Given the description of an element on the screen output the (x, y) to click on. 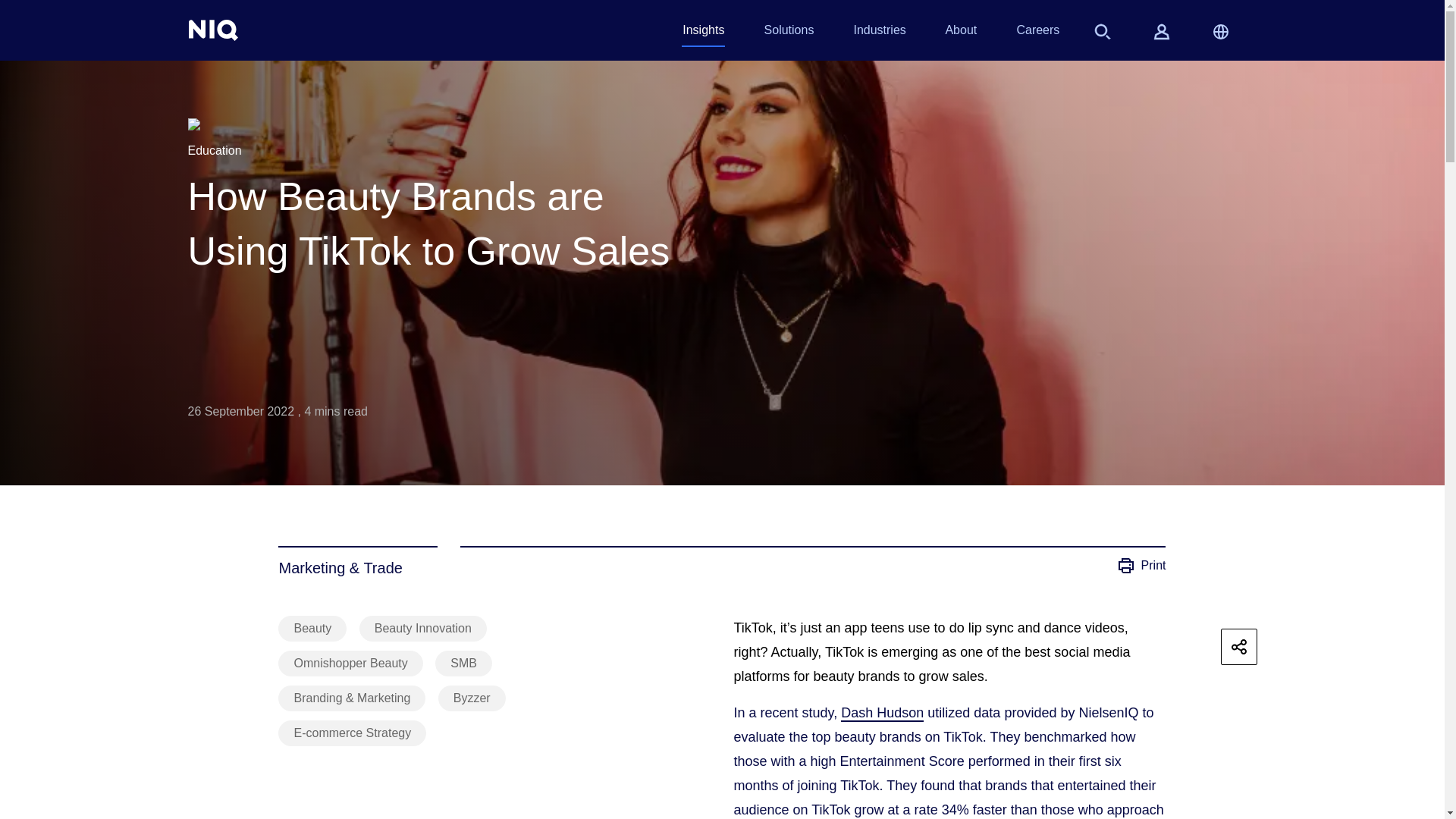
Industries (878, 33)
Insights (703, 33)
Solutions (788, 33)
Insights (703, 33)
Solutions (788, 33)
